Given the description of an element on the screen output the (x, y) to click on. 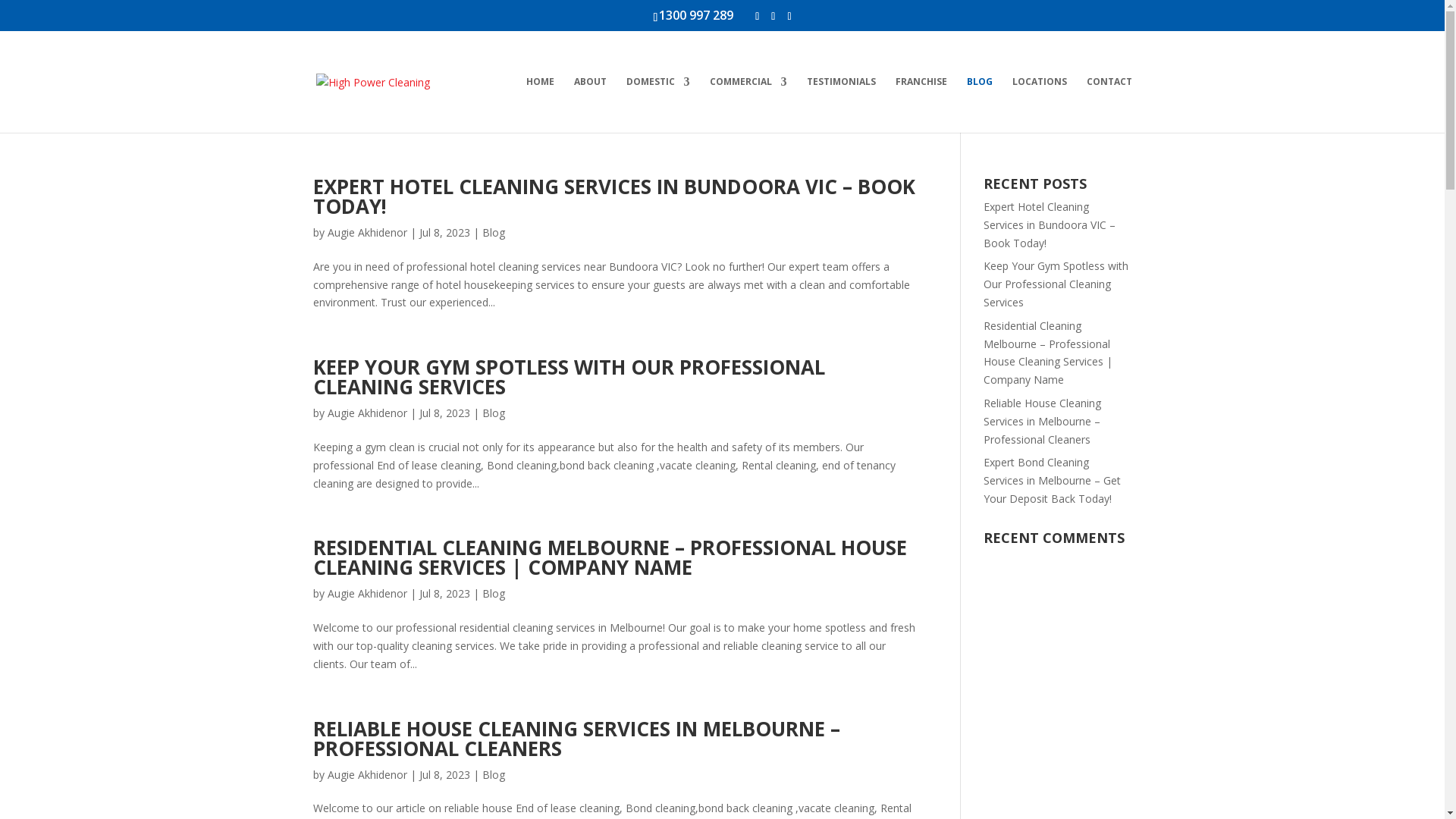
CONTACT Element type: text (1108, 104)
FRANCHISE Element type: text (920, 104)
Blog Element type: text (493, 412)
Augie Akhidenor Element type: text (367, 232)
Augie Akhidenor Element type: text (367, 593)
COMMERCIAL Element type: text (748, 104)
Augie Akhidenor Element type: text (367, 774)
LOCATIONS Element type: text (1038, 104)
Blog Element type: text (493, 232)
TESTIMONIALS Element type: text (840, 104)
Augie Akhidenor Element type: text (367, 412)
ABOUT Element type: text (589, 104)
DOMESTIC Element type: text (658, 104)
BLOG Element type: text (978, 104)
Blog Element type: text (493, 593)
Blog Element type: text (493, 774)
HOME Element type: text (540, 104)
